Given the description of an element on the screen output the (x, y) to click on. 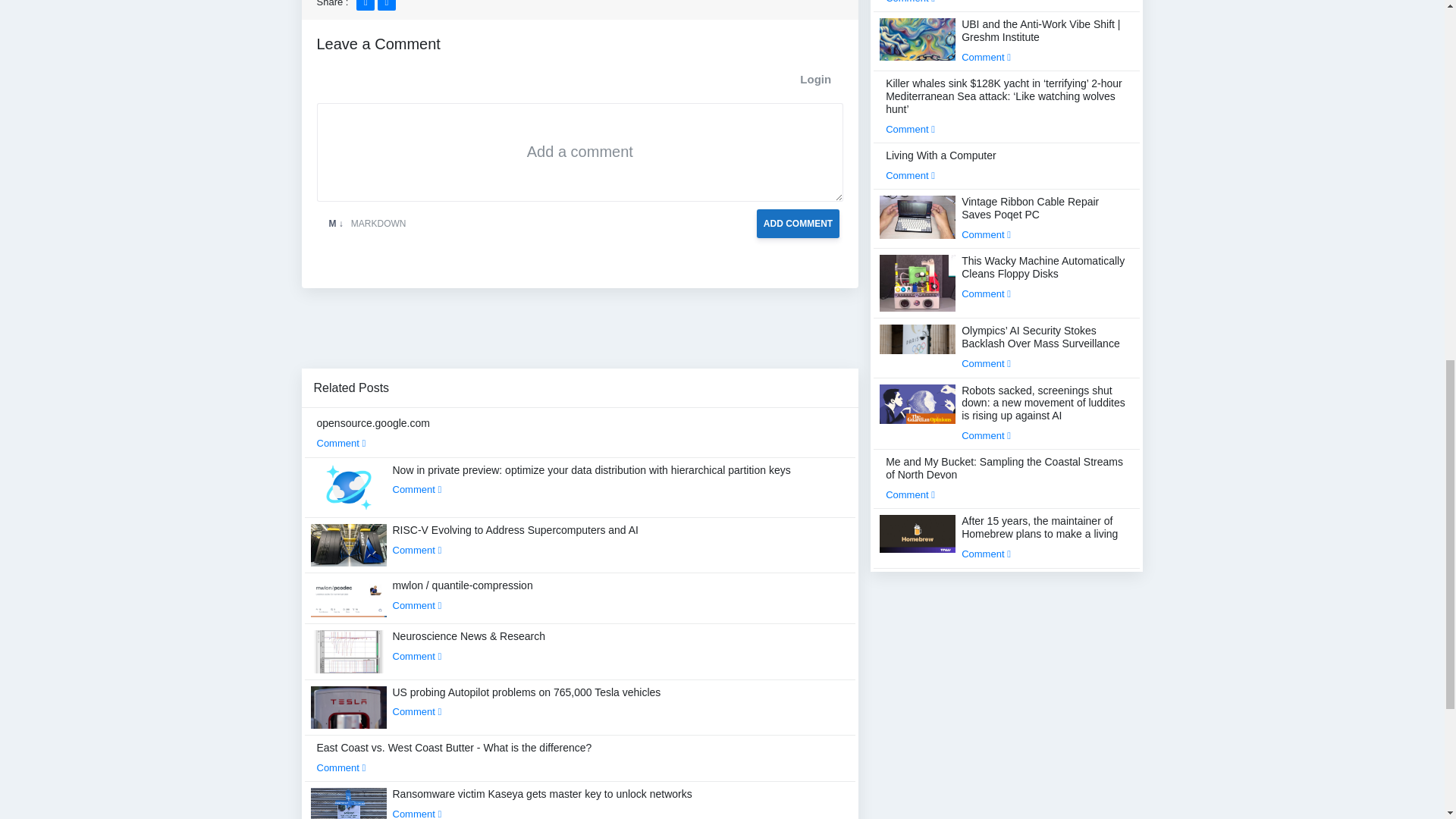
Comment (417, 604)
opensource.google.com (373, 432)
ADD COMMENT (798, 223)
East Coast vs. West Coast Butter - What is the difference? (454, 757)
Comment (417, 550)
US probing Autopilot problems on 765,000 Tesla vehicles (527, 702)
Advertisement (580, 334)
Comment (417, 711)
Comment (417, 489)
Comment (341, 442)
Comment (341, 767)
RISC-V Evolving to Address Supercomputers and AI (516, 540)
Ransomware victim Kaseya gets master key to unlock networks (543, 803)
Comment (417, 655)
